Given the description of an element on the screen output the (x, y) to click on. 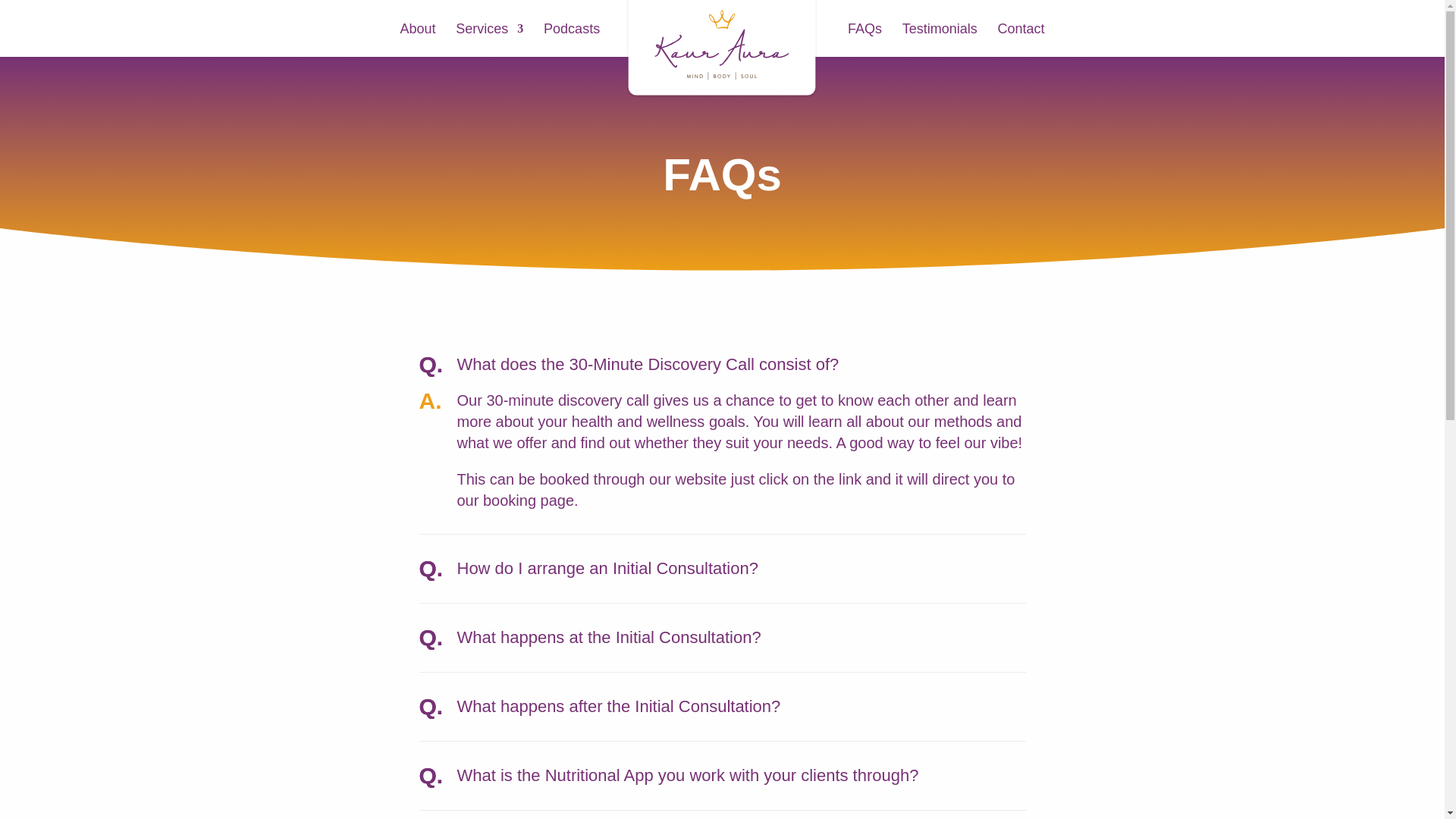
Services (488, 39)
FAQs (864, 39)
Testimonials (939, 39)
Podcasts (571, 39)
Contact (1020, 39)
About (417, 39)
